Given the description of an element on the screen output the (x, y) to click on. 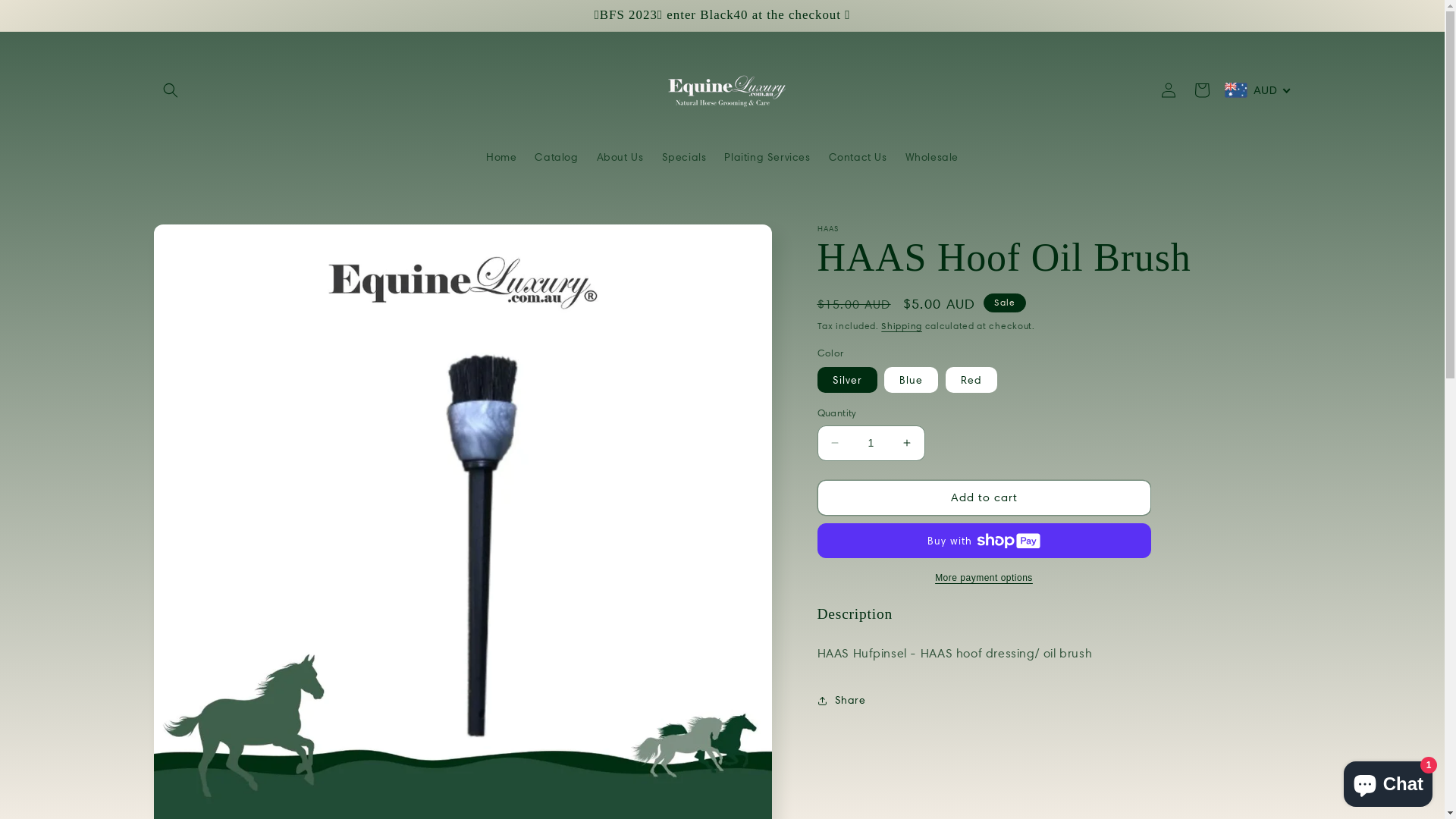
Shopify online store chat Element type: hover (1388, 780)
Add to cart Element type: text (984, 497)
About Us Element type: text (619, 156)
More payment options Element type: text (984, 577)
Log in Element type: text (1168, 89)
Contact Us Element type: text (857, 156)
Plaiting Services Element type: text (767, 156)
Specials Element type: text (683, 156)
Home Element type: text (500, 156)
Increase quantity for HAAS Hoof Oil Brush Element type: text (907, 443)
Cart Element type: text (1201, 89)
Shipping Element type: text (901, 325)
Decrease quantity for HAAS Hoof Oil Brush Element type: text (834, 443)
Skip to product information Element type: text (199, 241)
Wholesale Element type: text (931, 156)
Catalog Element type: text (555, 156)
